Given the description of an element on the screen output the (x, y) to click on. 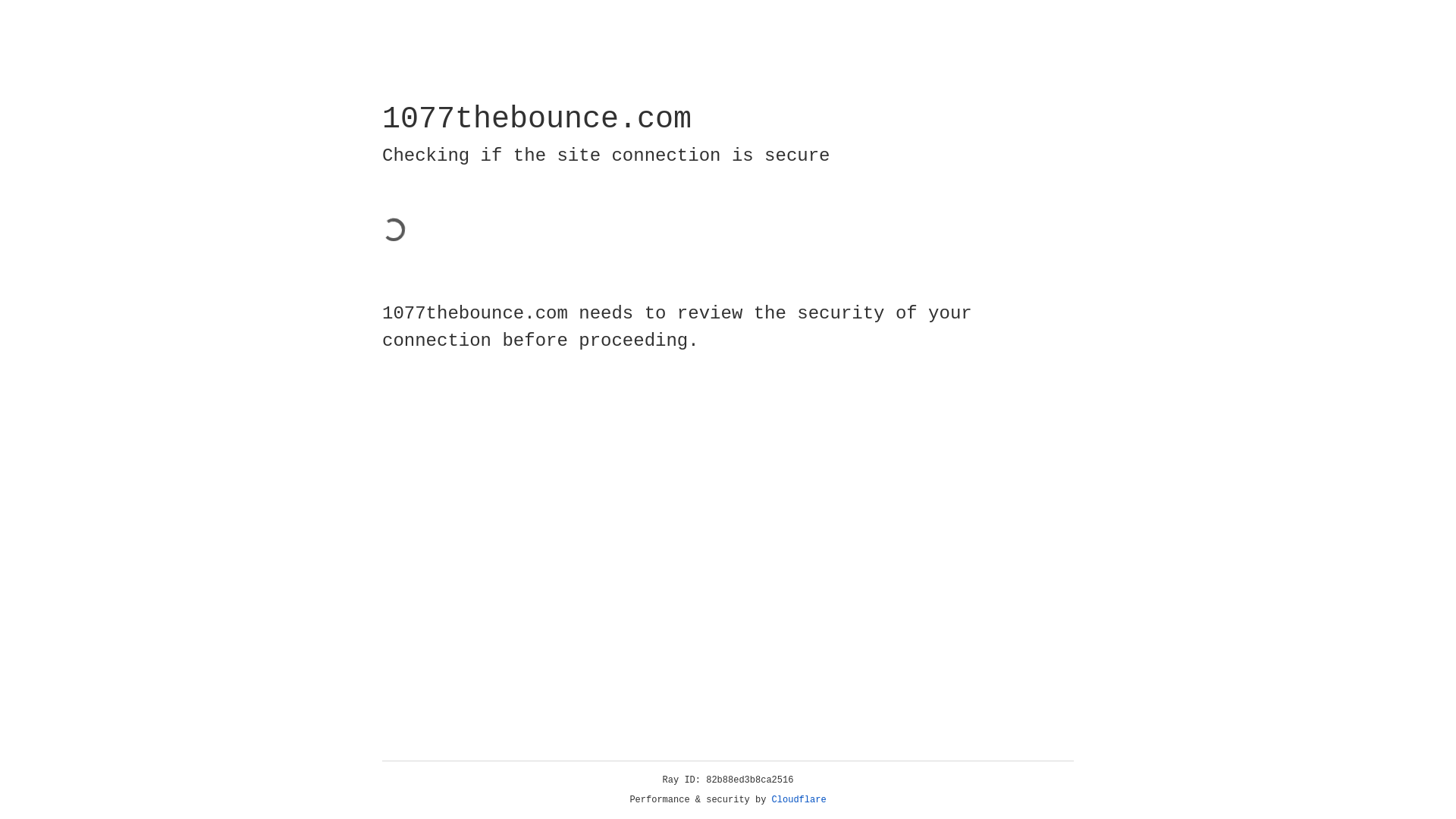
Cloudflare Element type: text (798, 799)
